Given the description of an element on the screen output the (x, y) to click on. 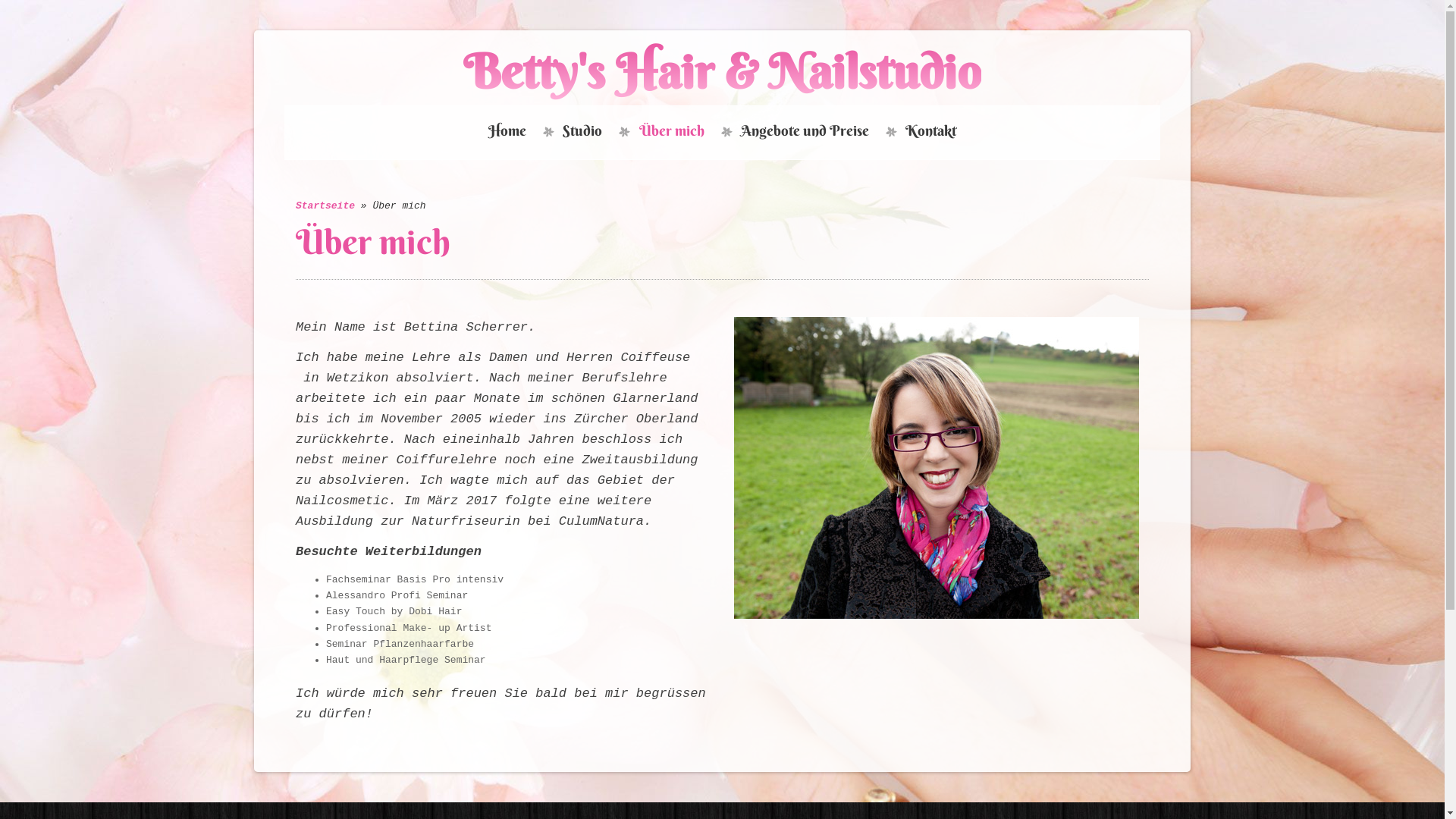
Startseite Element type: text (324, 205)
Studio Element type: text (582, 132)
betty_6 Element type: hover (936, 467)
Betty's Hair & Nailstudio Element type: text (722, 71)
Home Element type: text (507, 132)
Kontakt Element type: text (930, 132)
Angebote und Preise Element type: text (803, 132)
